Given the description of an element on the screen output the (x, y) to click on. 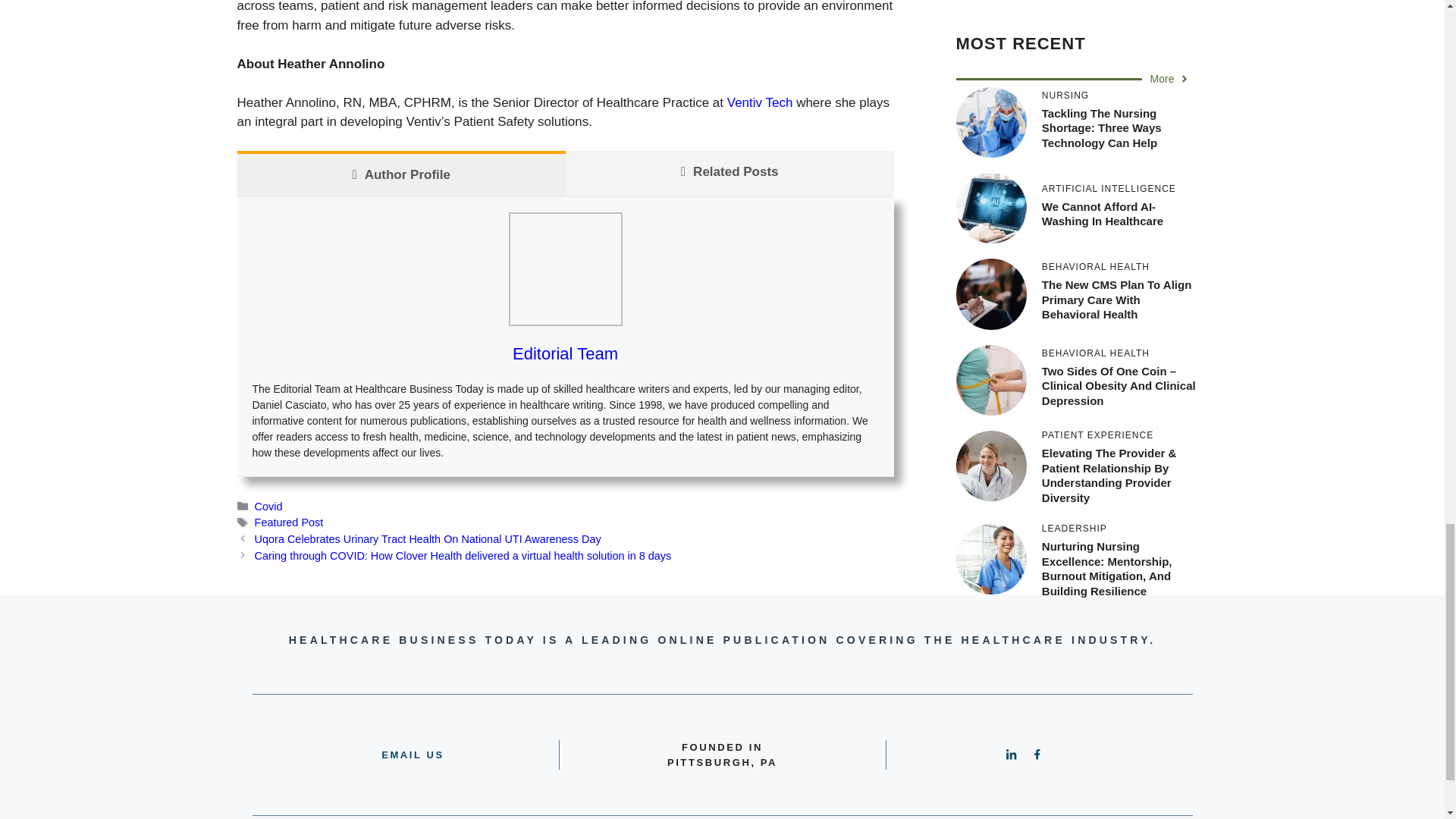
Ventiv Tech (759, 102)
Covid (268, 506)
Featured Post (288, 522)
Editorial Team (564, 353)
